Given the description of an element on the screen output the (x, y) to click on. 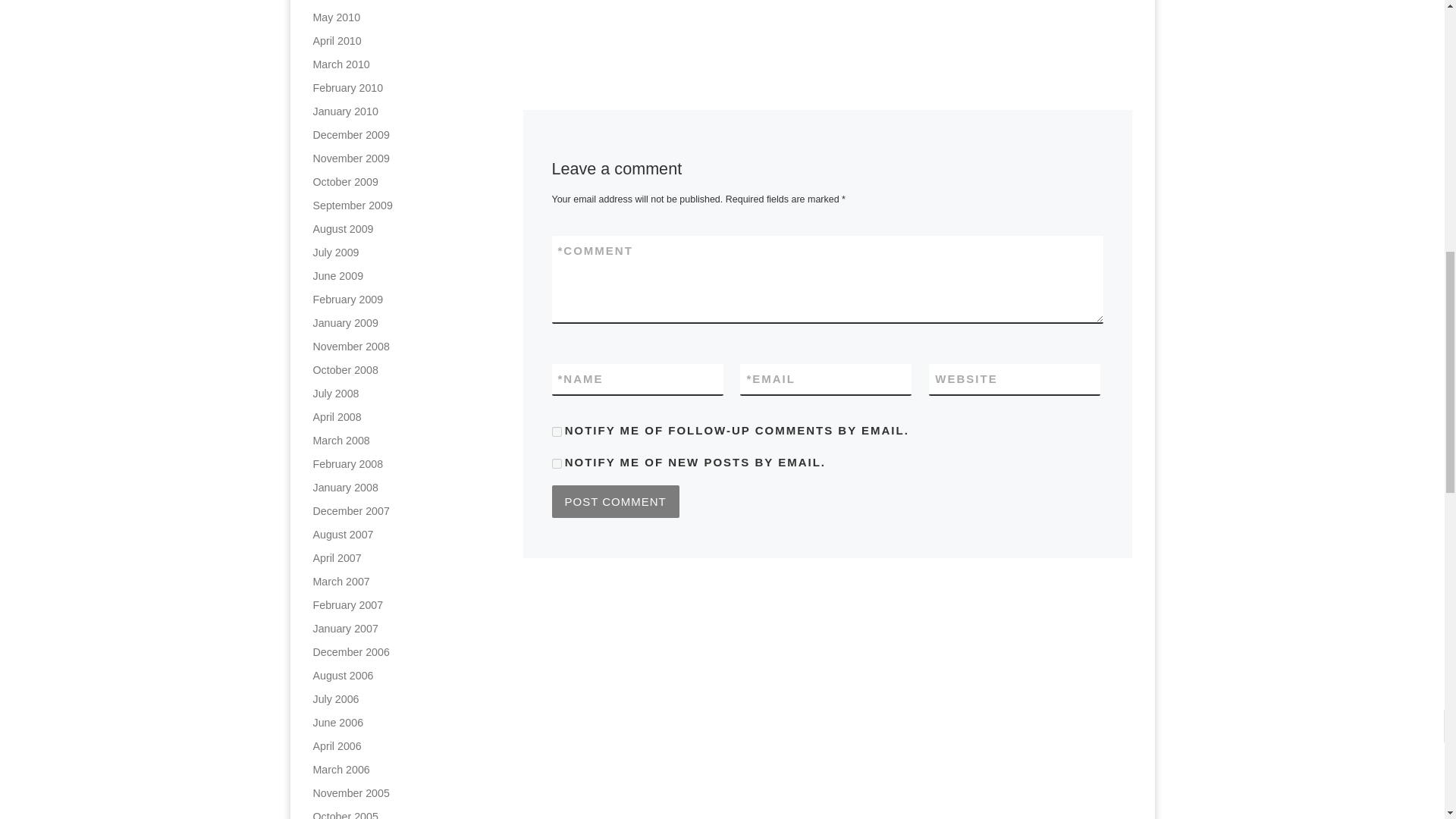
subscribe (556, 463)
Post Comment (615, 500)
Post Comment (615, 500)
subscribe (556, 431)
